Given the description of an element on the screen output the (x, y) to click on. 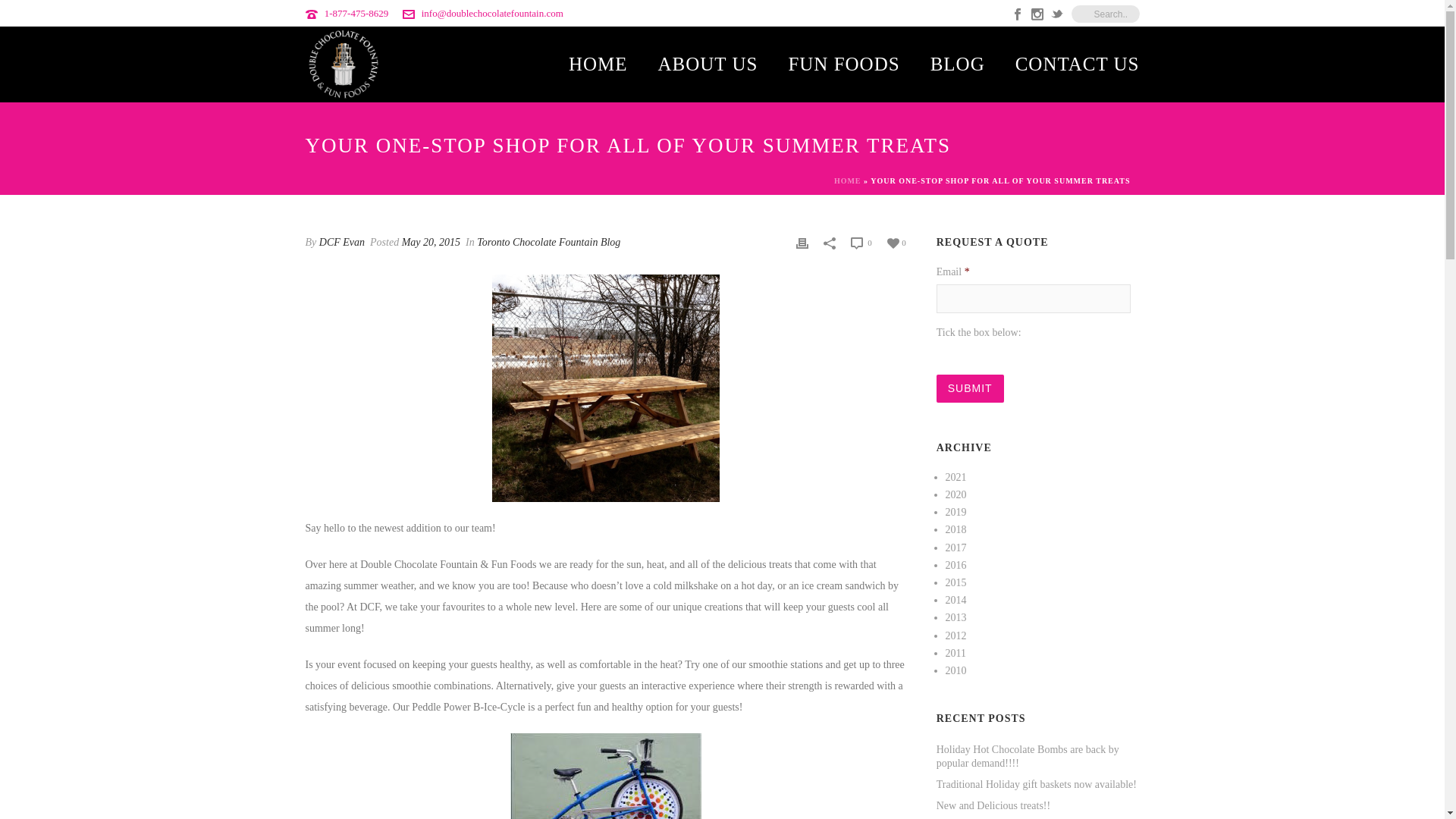
0 (860, 242)
CONTACT US (1077, 64)
FUN FOODS (843, 64)
May 20, 2015 (430, 242)
HOME (598, 64)
HOME (847, 180)
ABOUT US (708, 64)
HOME (598, 64)
Posts by DCF Evan (341, 242)
CONTACT US (1077, 64)
Toronto Chocolate Fountain Blog (548, 242)
1-877-475-8629 (356, 12)
DCF Evan (341, 242)
FUN FOODS (843, 64)
BLOG (957, 64)
